Given the description of an element on the screen output the (x, y) to click on. 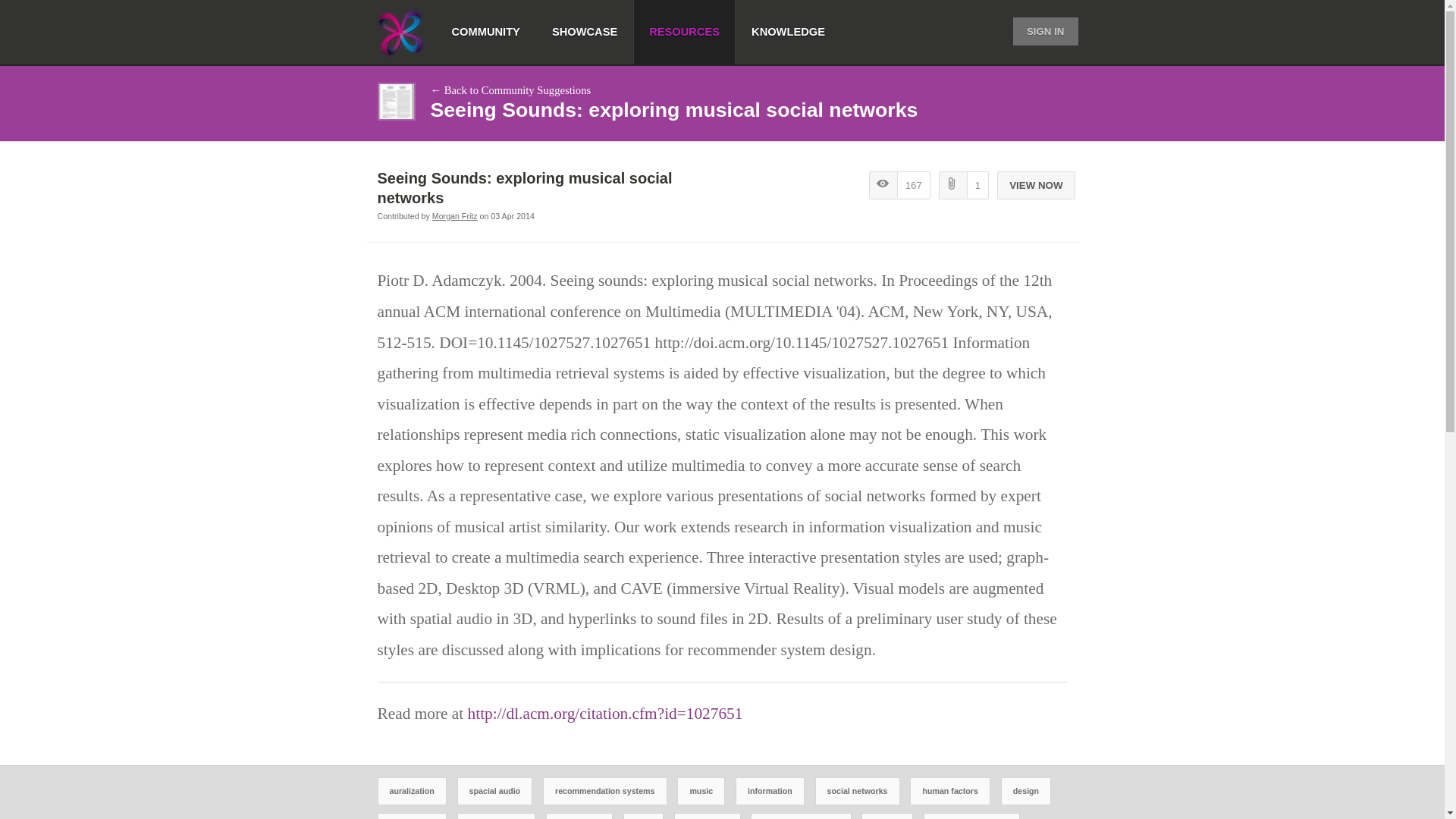
SHOWCASE (584, 32)
VIEW NOW (1035, 185)
COMMUNITY (485, 32)
spacial audio (495, 791)
Morgan Fritz (454, 215)
SIGN IN (1045, 31)
RESOURCES (684, 32)
1 (963, 185)
auralization (411, 791)
167 (899, 185)
KNOWLEDGE (788, 32)
Log in (1031, 166)
